Given the description of an element on the screen output the (x, y) to click on. 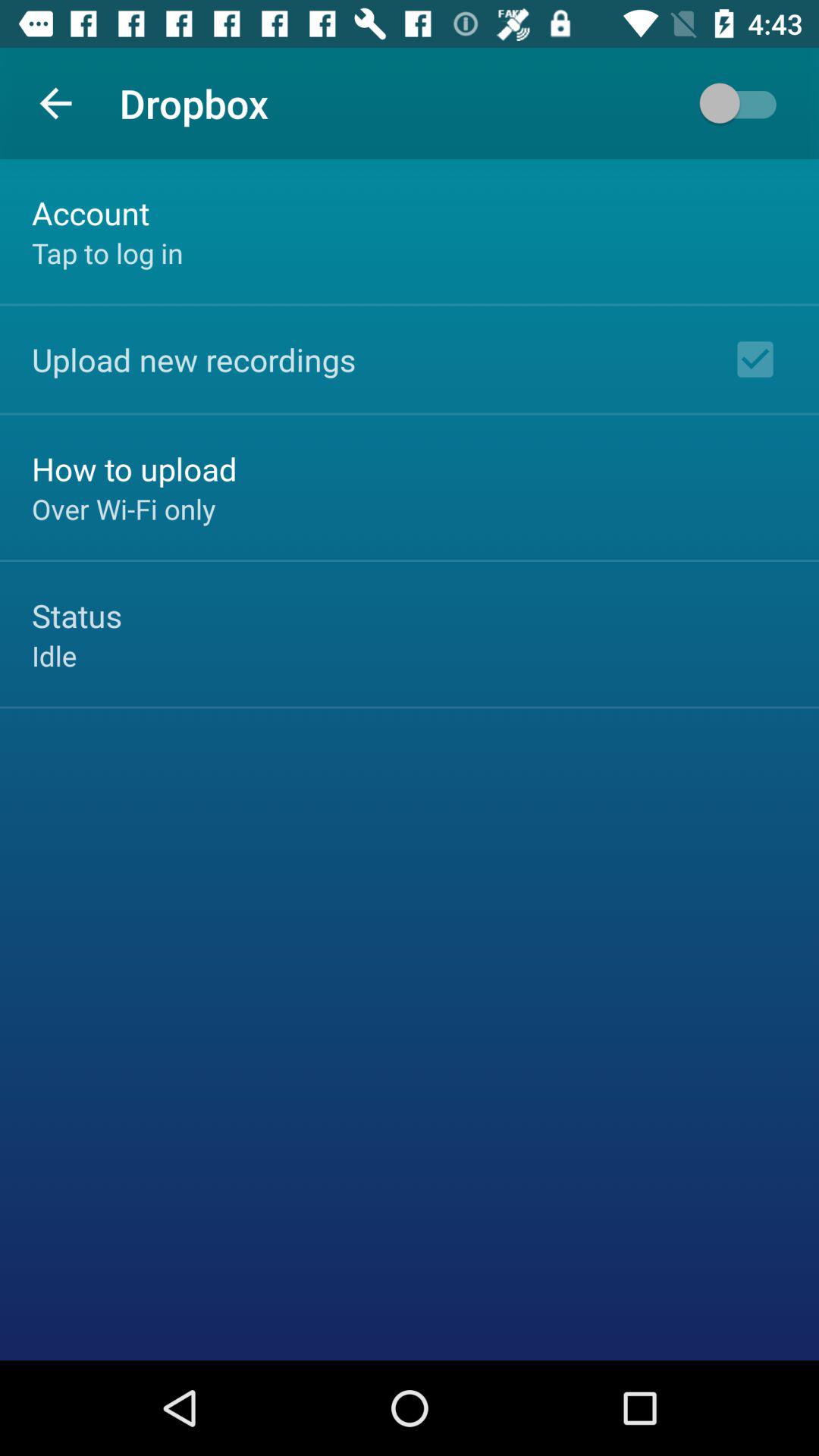
turn off the status (76, 615)
